Given the description of an element on the screen output the (x, y) to click on. 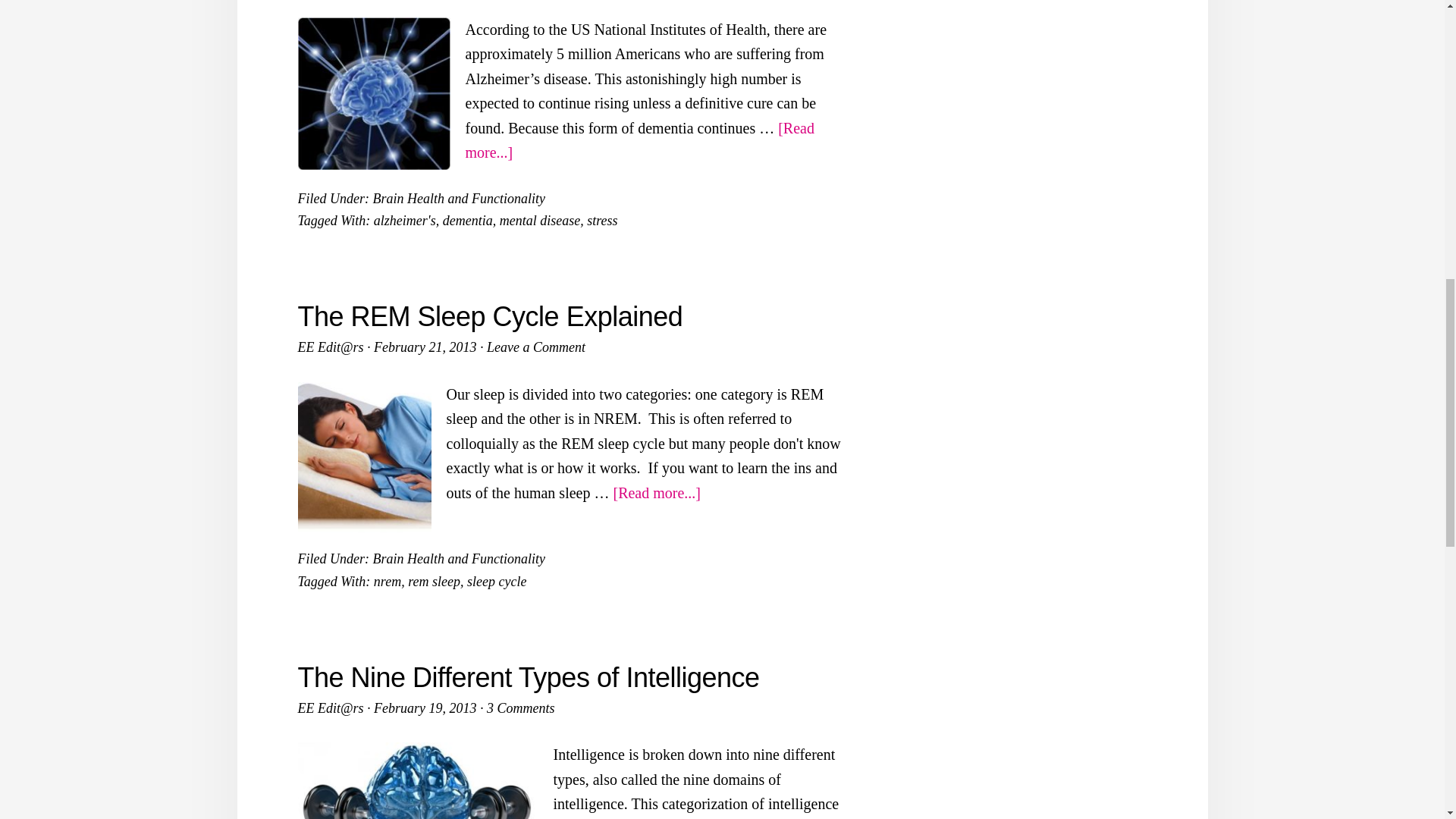
alzheimer's (404, 220)
dementia (467, 220)
Brain Health and Functionality (458, 198)
